Given the description of an element on the screen output the (x, y) to click on. 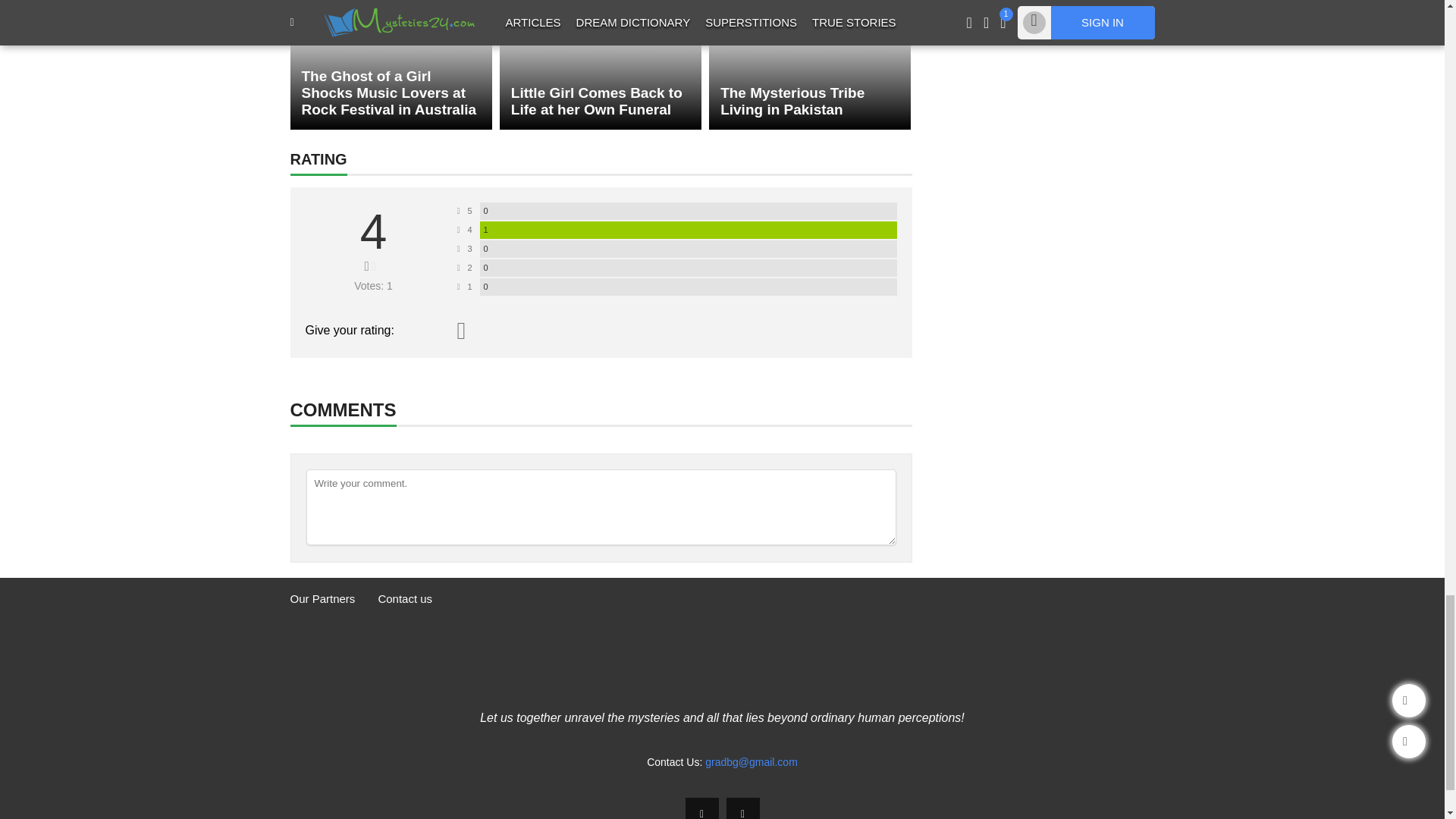
The Mysterious Tribe Living in Pakistan (810, 64)
Little Girl Comes Back to Life at her Own Funeral (600, 64)
Facebook (702, 808)
RSS (743, 808)
